Given the description of an element on the screen output the (x, y) to click on. 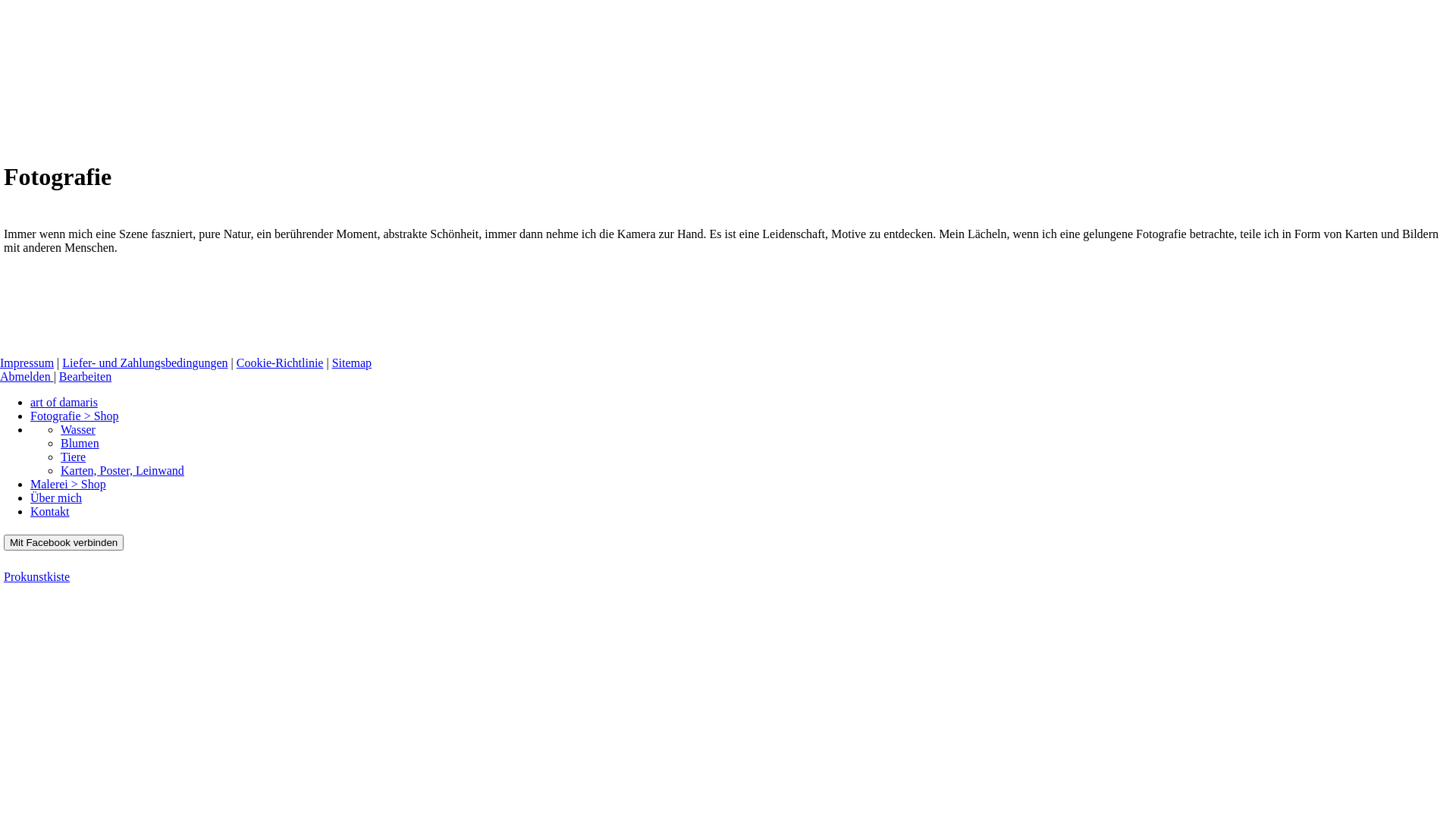
Sitemap Element type: text (351, 362)
Blumen Element type: text (79, 442)
Kontakt Element type: text (49, 511)
Wasser Element type: text (77, 429)
Impressum Element type: text (26, 362)
Mit Facebook verbinden Element type: text (63, 542)
art of damaris Element type: text (63, 401)
Malerei > Shop Element type: text (68, 483)
Karten, Poster, Leinwand Element type: text (122, 470)
Liefer- und Zahlungsbedingungen Element type: text (144, 362)
Bearbeiten Element type: text (85, 376)
Fotografie > Shop Element type: text (74, 415)
Abmelden Element type: text (26, 376)
Cookie-Richtlinie Element type: text (279, 362)
Tiere Element type: text (72, 456)
Prokunstkiste Element type: text (36, 576)
